Given the description of an element on the screen output the (x, y) to click on. 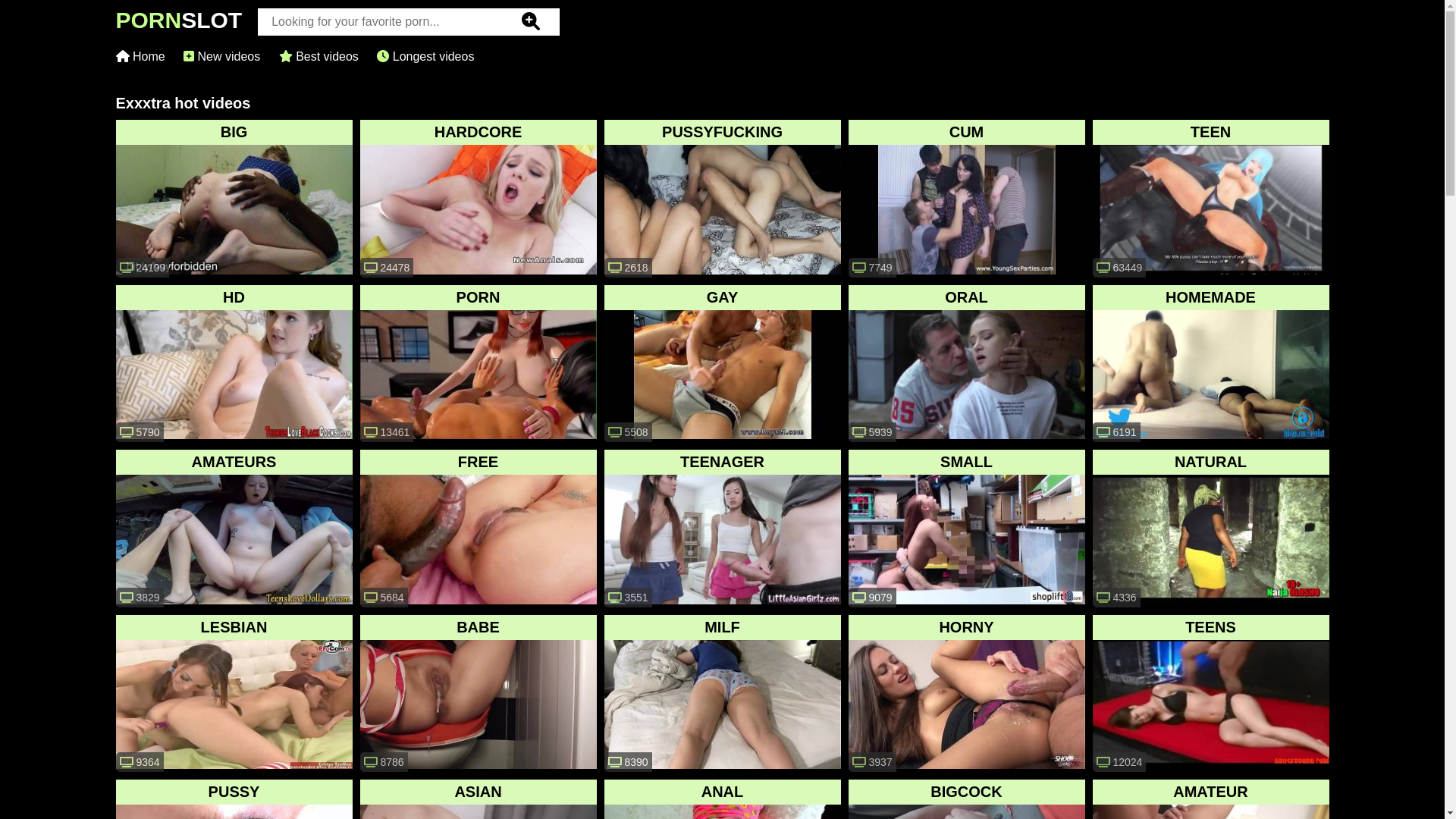
24199
BIG Element type: text (233, 198)
PORNSLOT Element type: text (178, 24)
4336
NATURAL Element type: text (1210, 528)
3829
AMATEURS Element type: text (233, 528)
8786
BABE Element type: text (477, 692)
5939
ORAL Element type: text (965, 363)
63449
TEEN Element type: text (1210, 198)
5508
GAY Element type: text (721, 363)
24478
HARDCORE Element type: text (477, 198)
8390
MILF Element type: text (721, 692)
7749
CUM Element type: text (965, 198)
5684
FREE Element type: text (477, 528)
9364
LESBIAN Element type: text (233, 692)
6191
HOMEMADE Element type: text (1210, 363)
5790
HD Element type: text (233, 363)
13461
PORN Element type: text (477, 363)
3551
TEENAGER Element type: text (721, 528)
3937
HORNY Element type: text (965, 692)
Best videos Element type: text (318, 56)
2618
PUSSYFUCKING Element type: text (721, 198)
12024
TEENS Element type: text (1210, 692)
New videos Element type: text (221, 56)
Home Element type: text (139, 56)
9079
SMALL Element type: text (965, 528)
Longest videos Element type: text (424, 56)
